Given the description of an element on the screen output the (x, y) to click on. 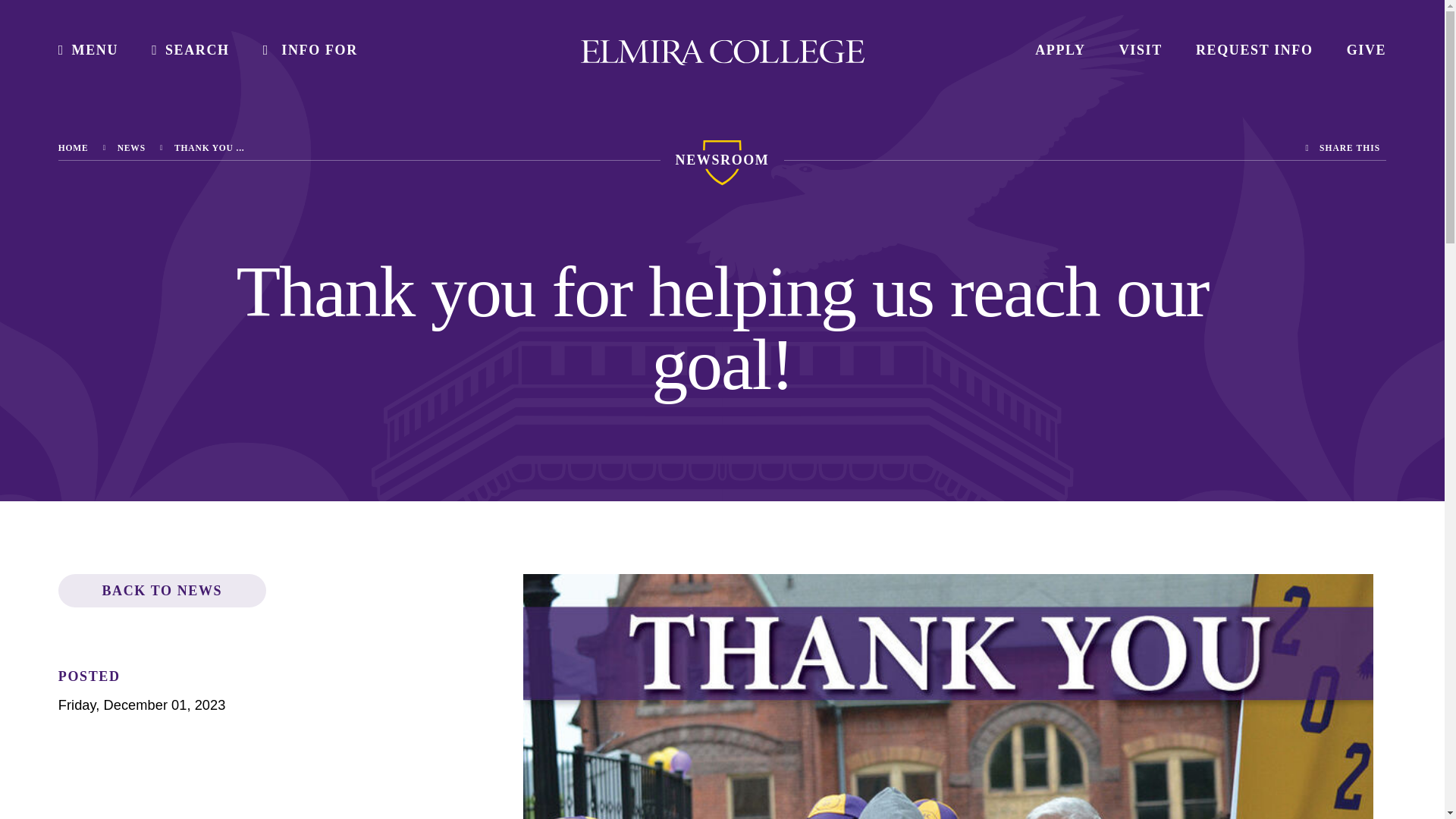
VISIT (1140, 50)
INFO FOR (310, 50)
GIVE (1366, 50)
SEARCH (190, 50)
APPLY (1059, 50)
REQUEST INFO (1254, 50)
MENU (87, 50)
